Given the description of an element on the screen output the (x, y) to click on. 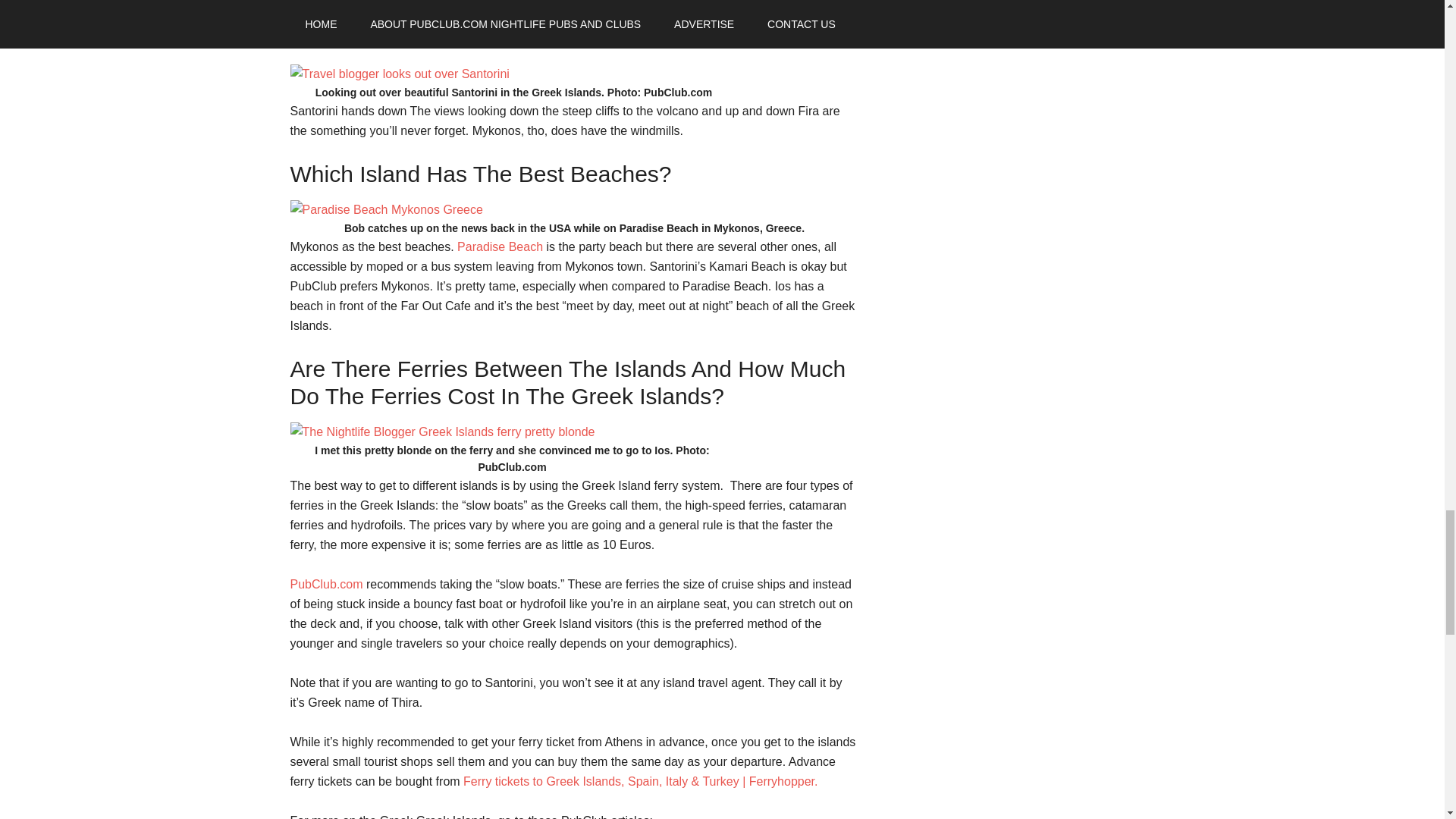
PubClub.com (325, 584)
Paradise Beach (500, 245)
